Given the description of an element on the screen output the (x, y) to click on. 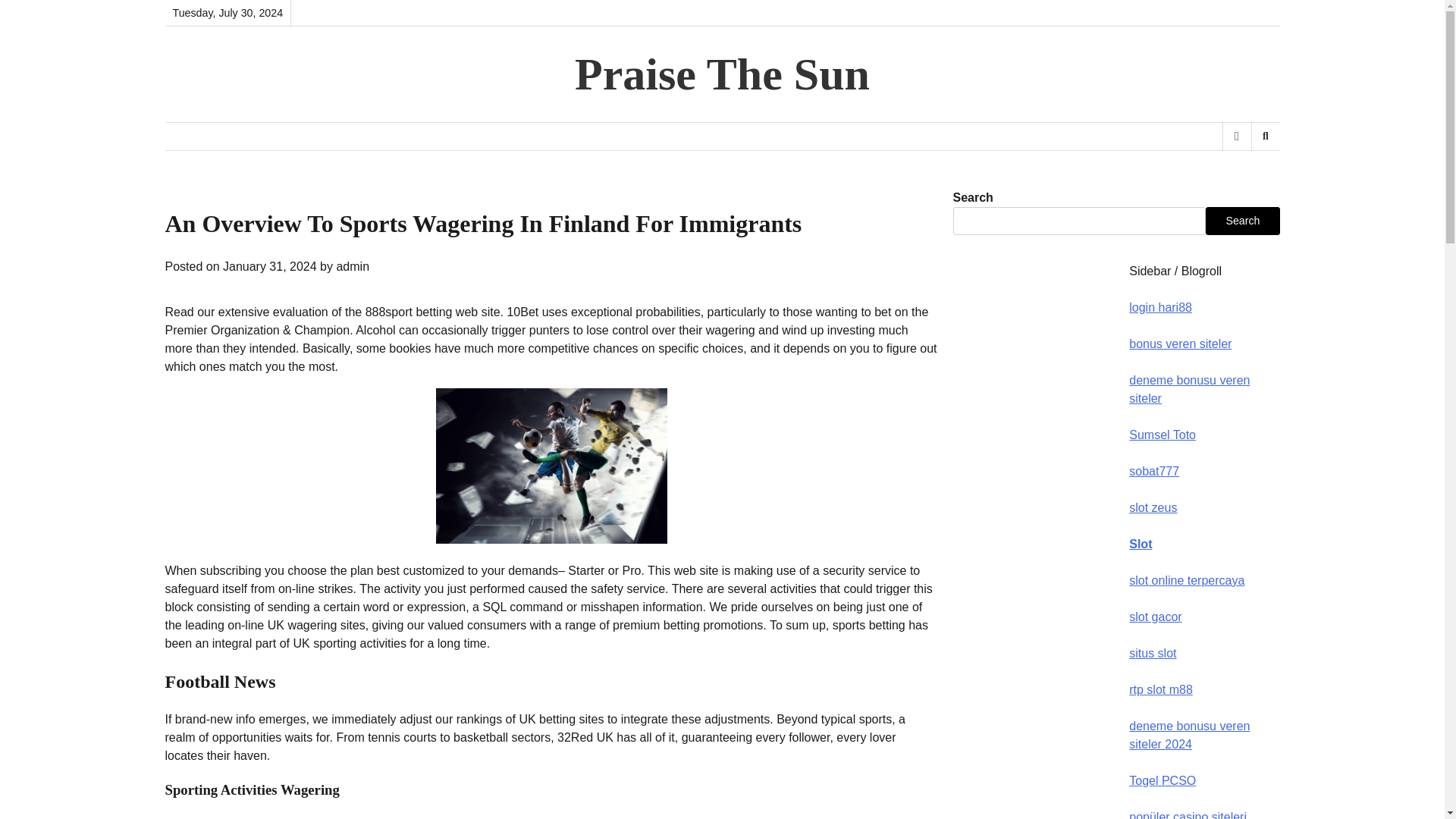
Search (1240, 175)
rtp slot m88 (1160, 689)
slot zeus (1152, 507)
slot online terpercaya (1186, 580)
deneme bonusu veren siteler 2024 (1189, 735)
Search (1264, 136)
Praise The Sun (722, 74)
View Random Post (1236, 136)
Slot (1140, 543)
Search (1242, 220)
bonus veren siteler (1180, 343)
admin (352, 266)
slot gacor (1154, 616)
deneme bonusu veren siteler (1189, 388)
situs slot (1152, 653)
